Given the description of an element on the screen output the (x, y) to click on. 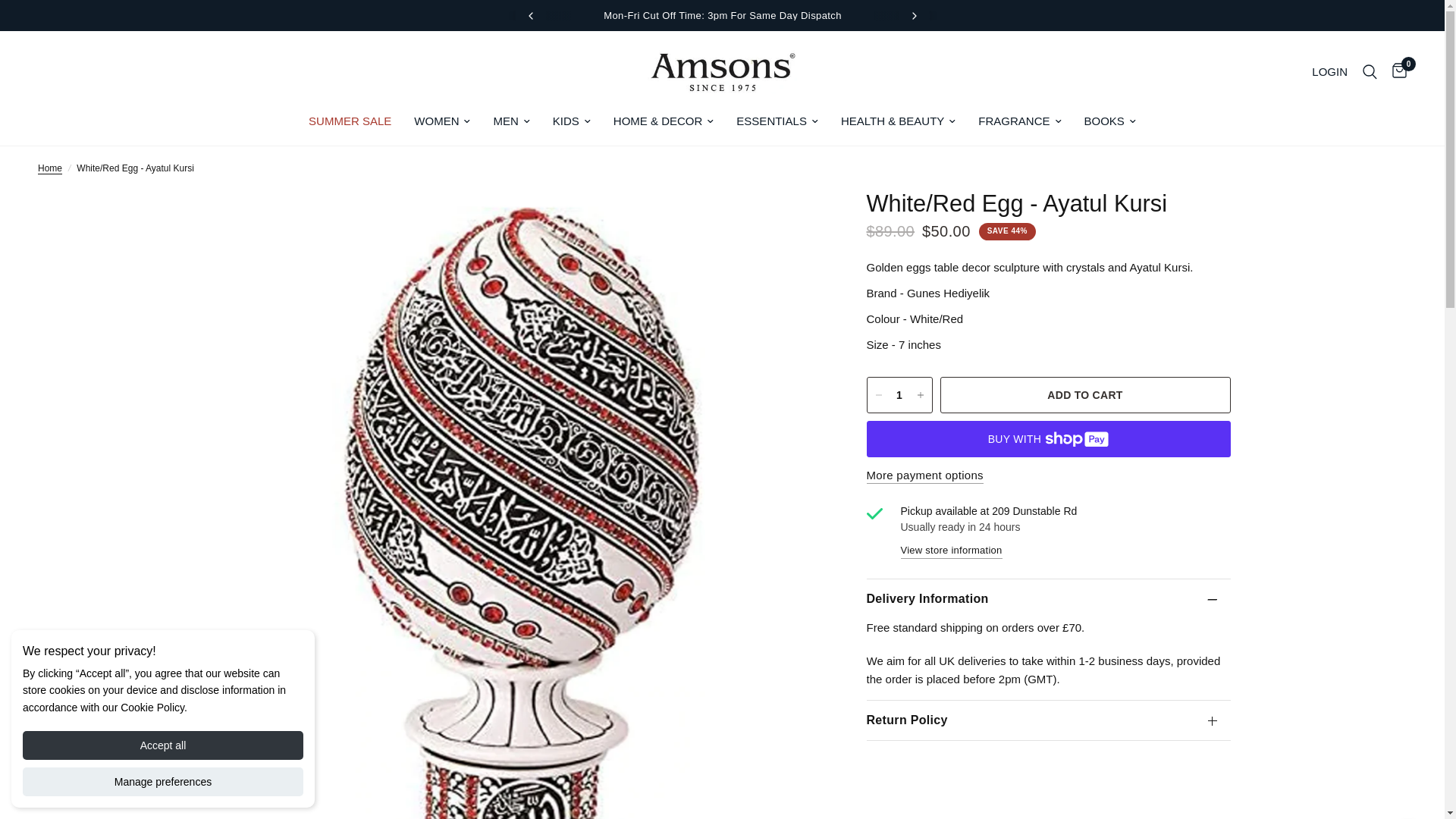
Accept all (162, 745)
Manage preferences (162, 781)
